Given the description of an element on the screen output the (x, y) to click on. 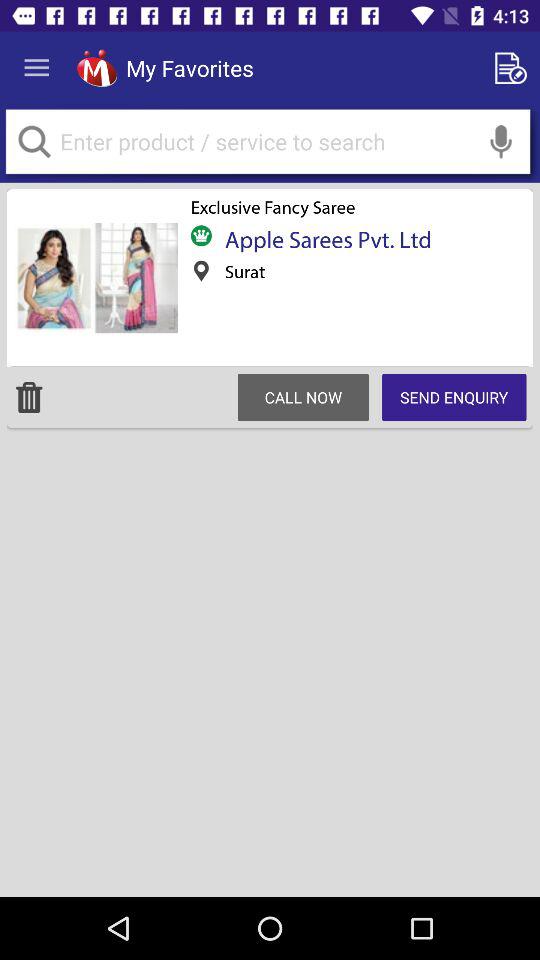
tap the icon below apple sarees pvt icon (454, 397)
